Given the description of an element on the screen output the (x, y) to click on. 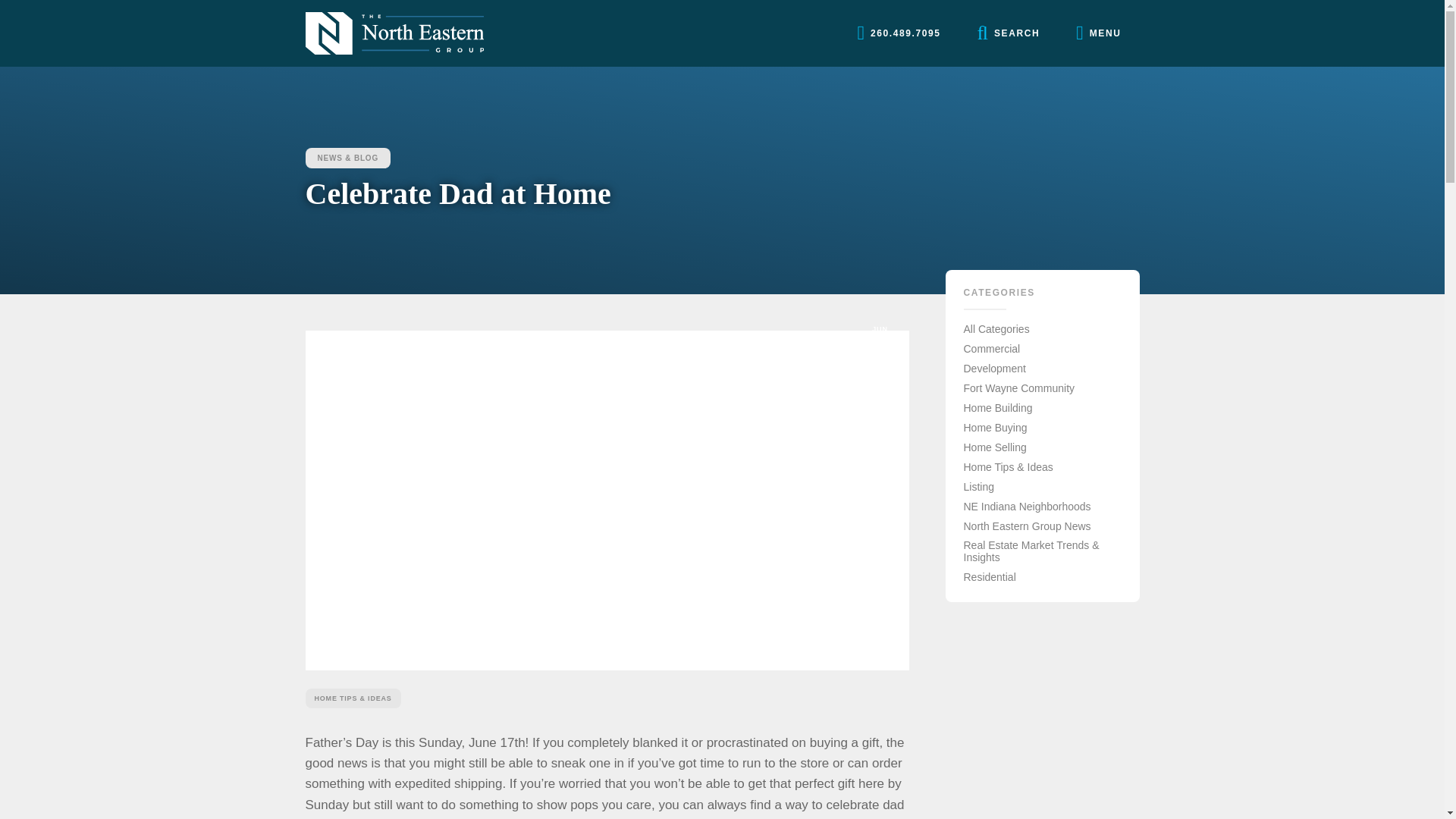
North Eastern Group Realty (393, 33)
MENU (1098, 33)
SEARCH (1008, 33)
All Categories (995, 328)
NE Indiana Neighborhoods (1026, 506)
Home Selling (994, 447)
Commercial (991, 348)
Development (994, 368)
260.489.7095 (898, 33)
Fort Wayne Community (1018, 387)
